Given the description of an element on the screen output the (x, y) to click on. 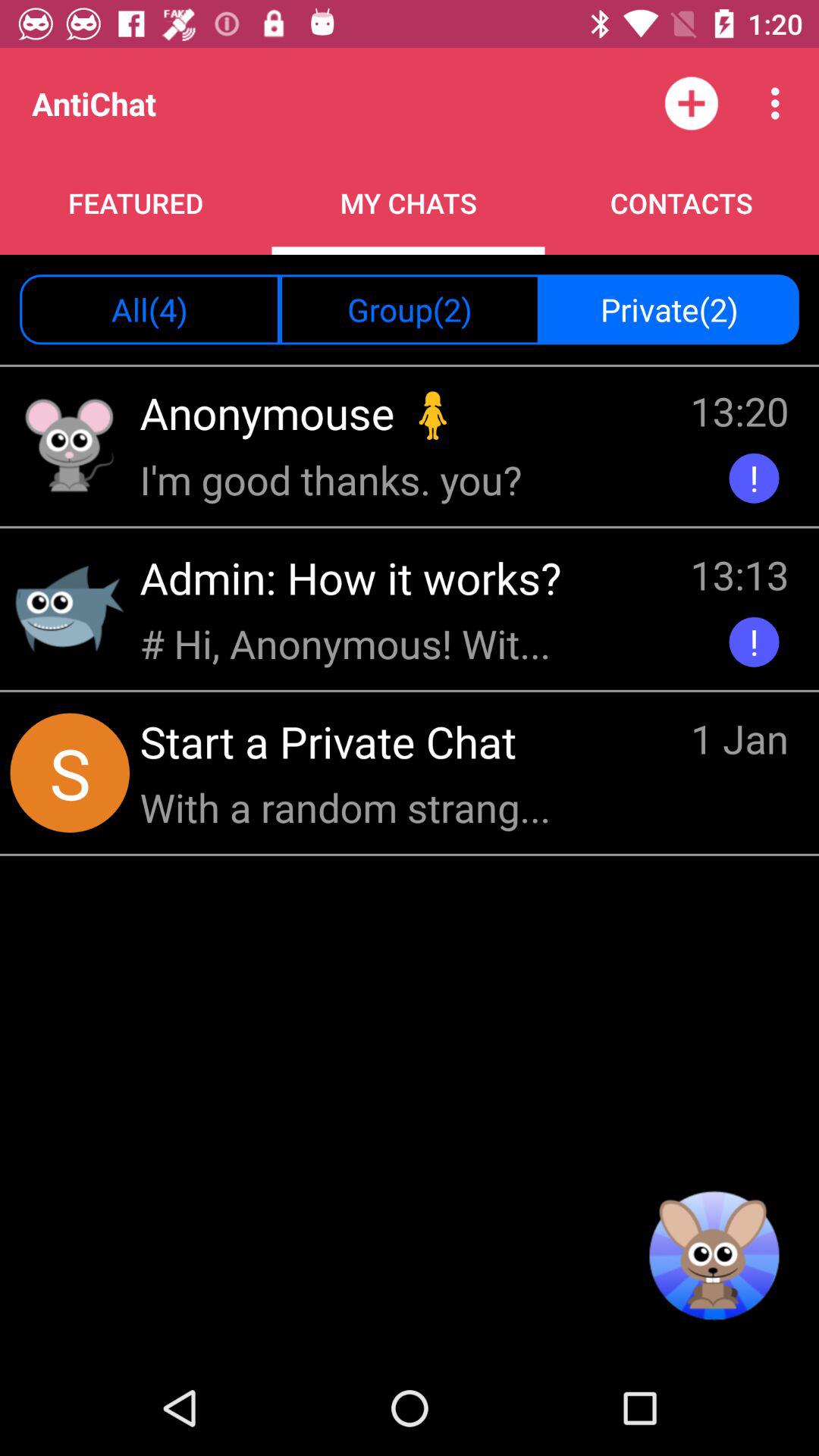
click the icon to the right of with a random icon (739, 741)
